Given the description of an element on the screen output the (x, y) to click on. 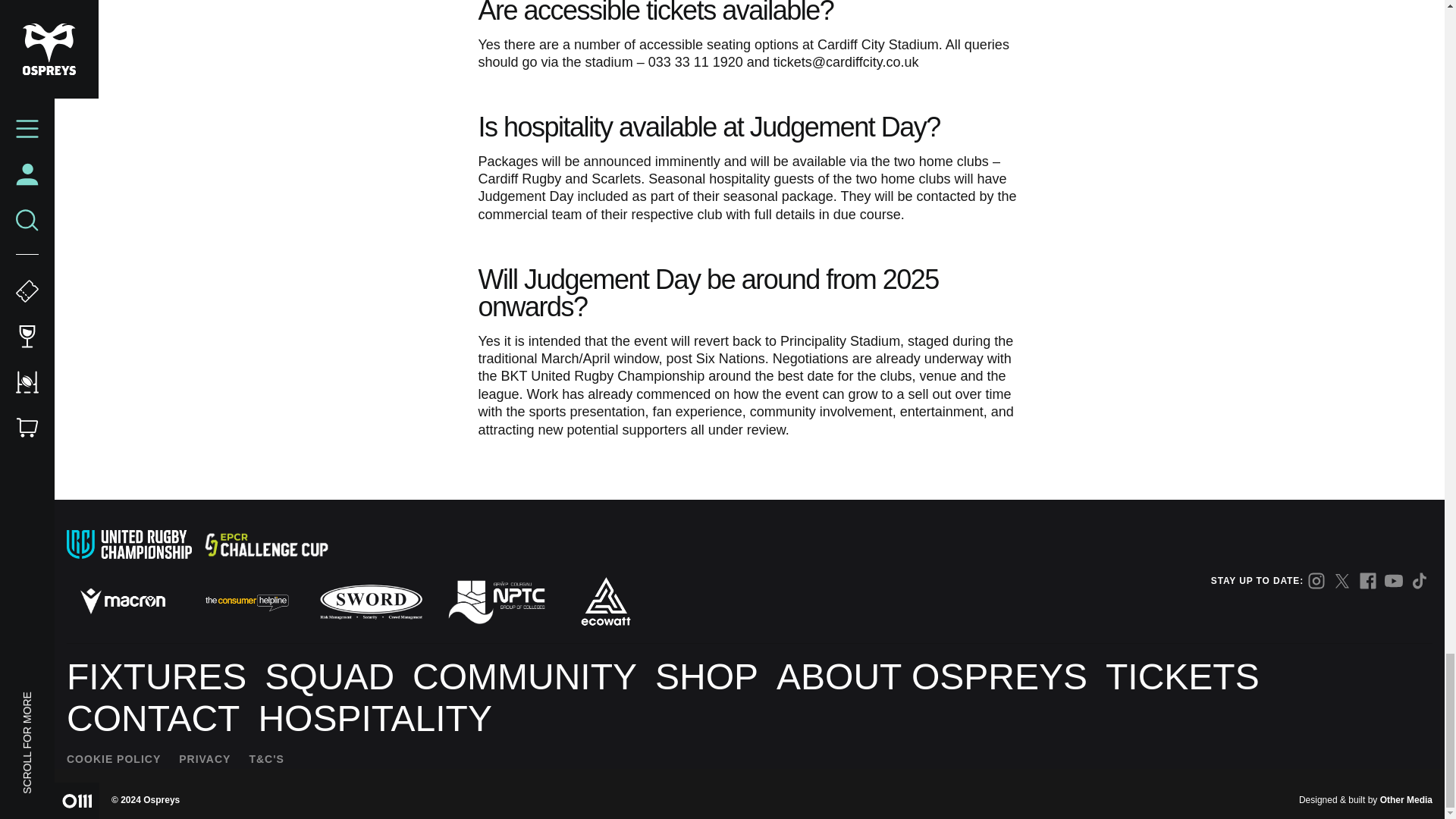
NPTC (495, 600)
Macron (122, 601)
European Challenge Cup (266, 544)
The Consumer Helpline (246, 601)
Facebook (1367, 580)
YouTube (1393, 580)
Instagram (1315, 580)
United Rugby Championship (129, 544)
Sword (371, 600)
Ecowatt (605, 600)
TikTok (1419, 580)
